Given the description of an element on the screen output the (x, y) to click on. 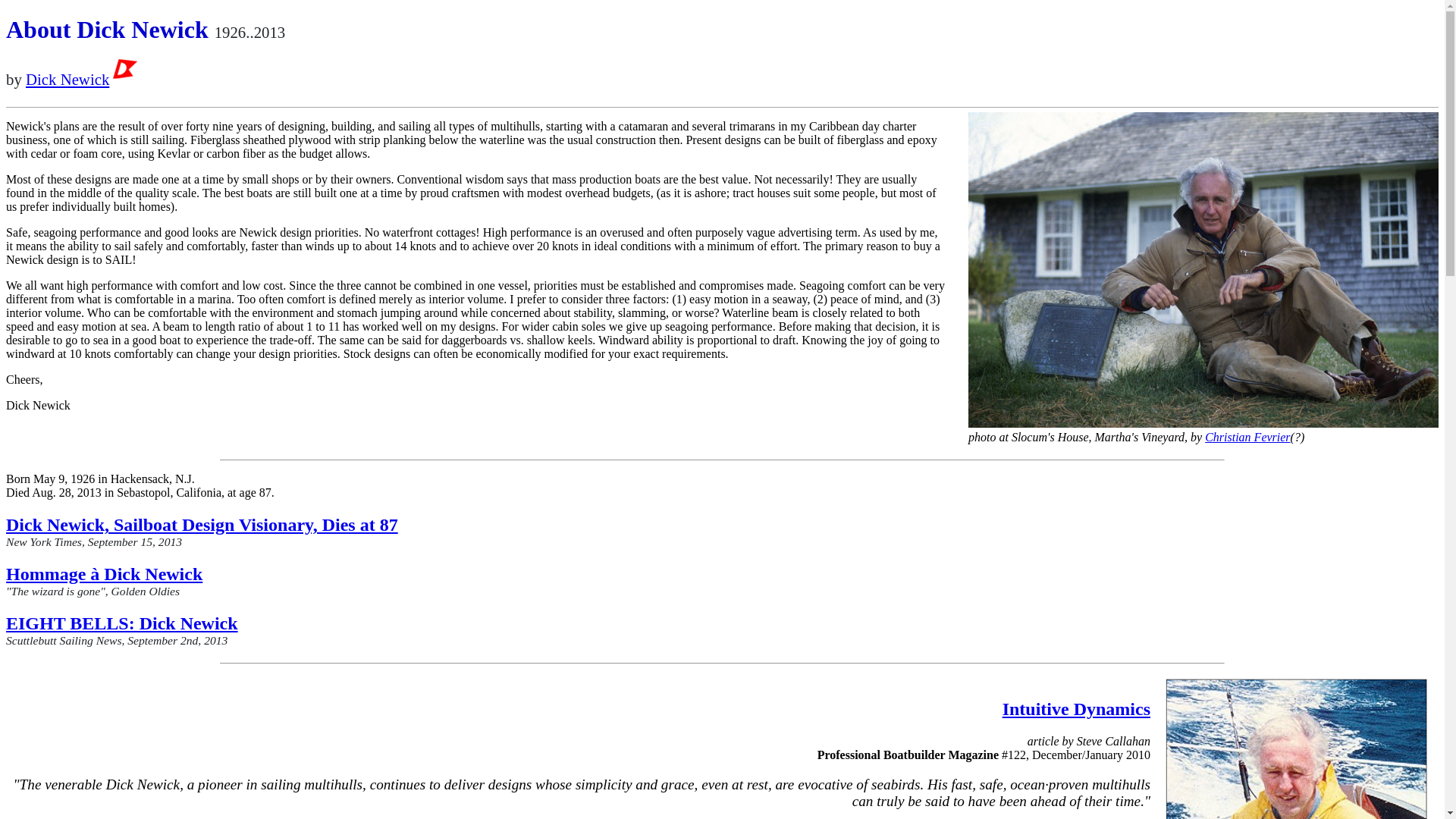
EIGHT BELLS: Dick Newick (121, 623)
Dick Newick, Sailboat Design Visionary, Dies at 87 (201, 524)
Intuitive Dynamics (1076, 719)
Intuitive Dynamics, article by Steve Callahan (1076, 719)
Dick Newick (81, 78)
New York Times (201, 524)
Christian Fevrier (1247, 436)
EIGHT BELLS: Dick Newick (121, 623)
